Given the description of an element on the screen output the (x, y) to click on. 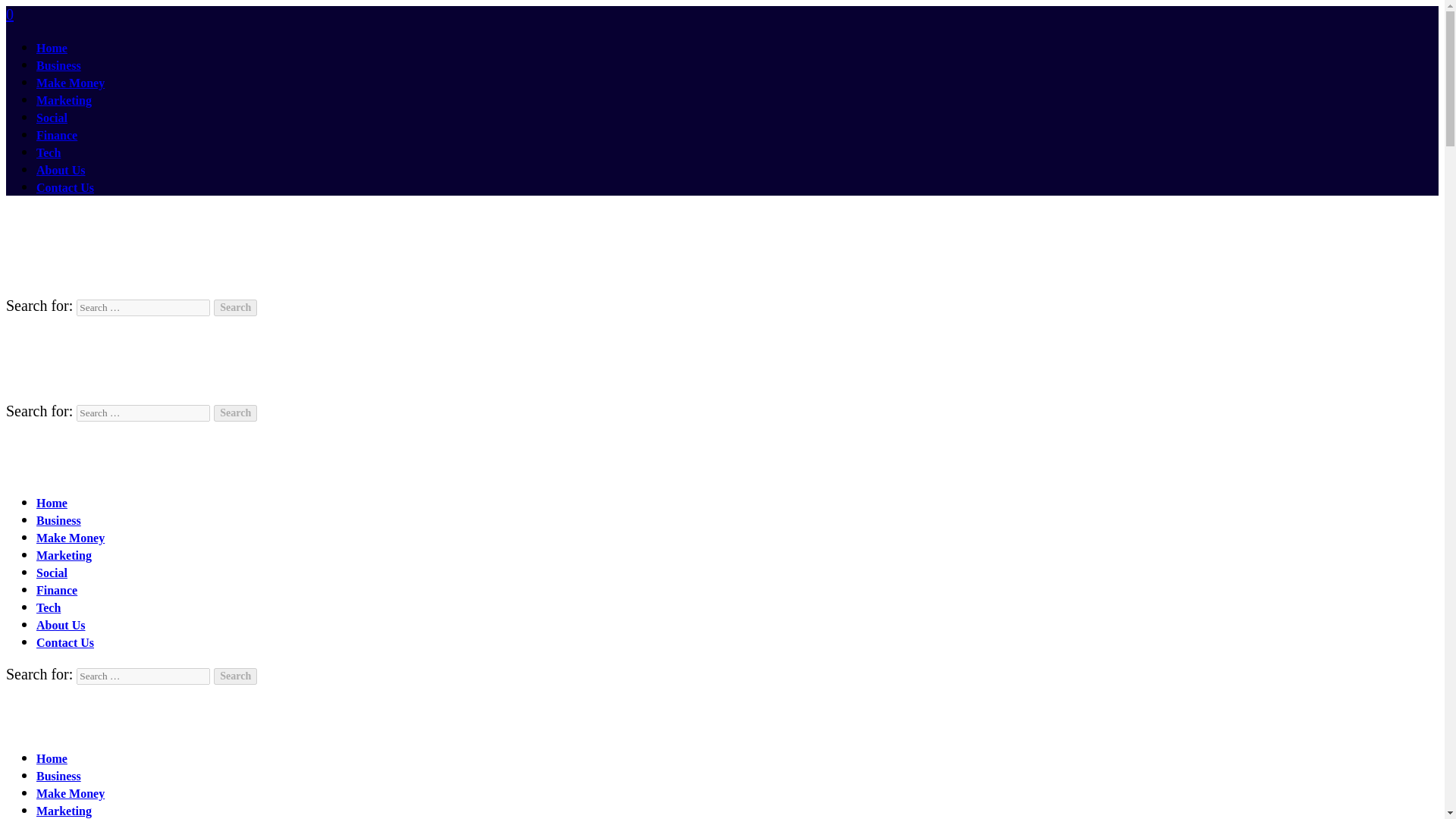
Make Money (70, 793)
Search (235, 307)
Tech (48, 152)
Search (235, 412)
Finance (56, 590)
Finance (56, 134)
Main Path (90, 724)
Tech (48, 607)
Social (51, 117)
About Us (60, 625)
